Given the description of an element on the screen output the (x, y) to click on. 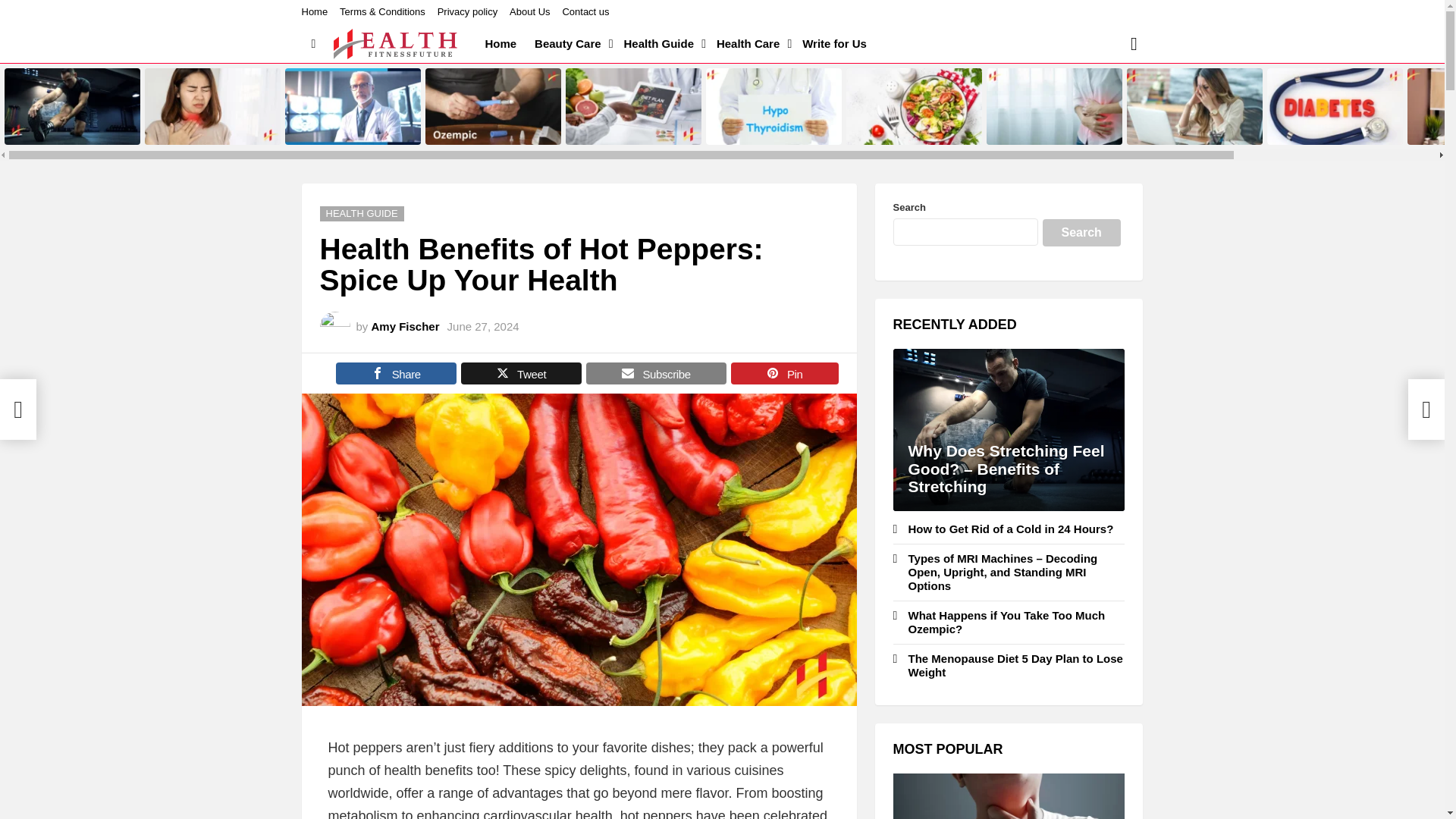
Home (315, 12)
Privacy policy (467, 12)
About Us (529, 12)
Is Falling Asleep After Eating Sugar a Sign of Diabetes? (1334, 105)
Menu (313, 44)
Contact us (585, 12)
Posts by Amy Fischer (405, 326)
How to Get Rid of a Cold in 24 Hours? (212, 105)
What Happens if You Take Too Much Ozempic? (492, 105)
The Menopause Diet 5 Day Plan to Lose Weight (633, 105)
Health Guide (660, 43)
Write for Us (834, 43)
Home (500, 43)
Do You Have Hypothyroidism Look at Your Hands (773, 105)
Beauty Care (569, 43)
